Given the description of an element on the screen output the (x, y) to click on. 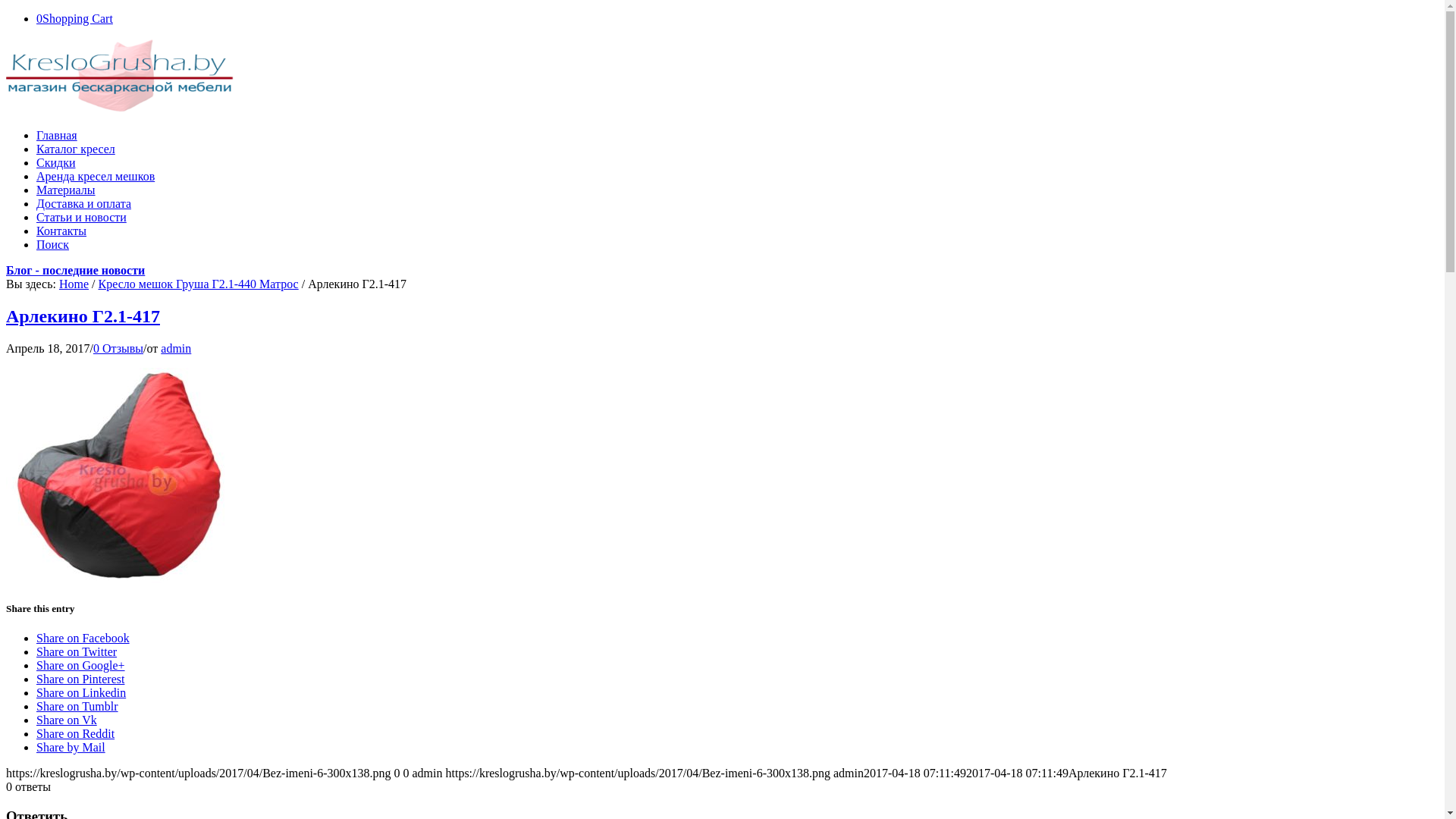
admin Element type: text (175, 348)
Share on Reddit Element type: text (75, 733)
Share on Linkedin Element type: text (80, 692)
Share on Tumblr Element type: text (77, 705)
Home Element type: text (73, 283)
Share on Facebook Element type: text (82, 637)
Share by Mail Element type: text (70, 746)
0Shopping Cart Element type: text (74, 18)
Share on Google+ Element type: text (80, 664)
Share on Twitter Element type: text (76, 651)
Share on Pinterest Element type: text (80, 678)
Share on Vk Element type: text (66, 719)
